Given the description of an element on the screen output the (x, y) to click on. 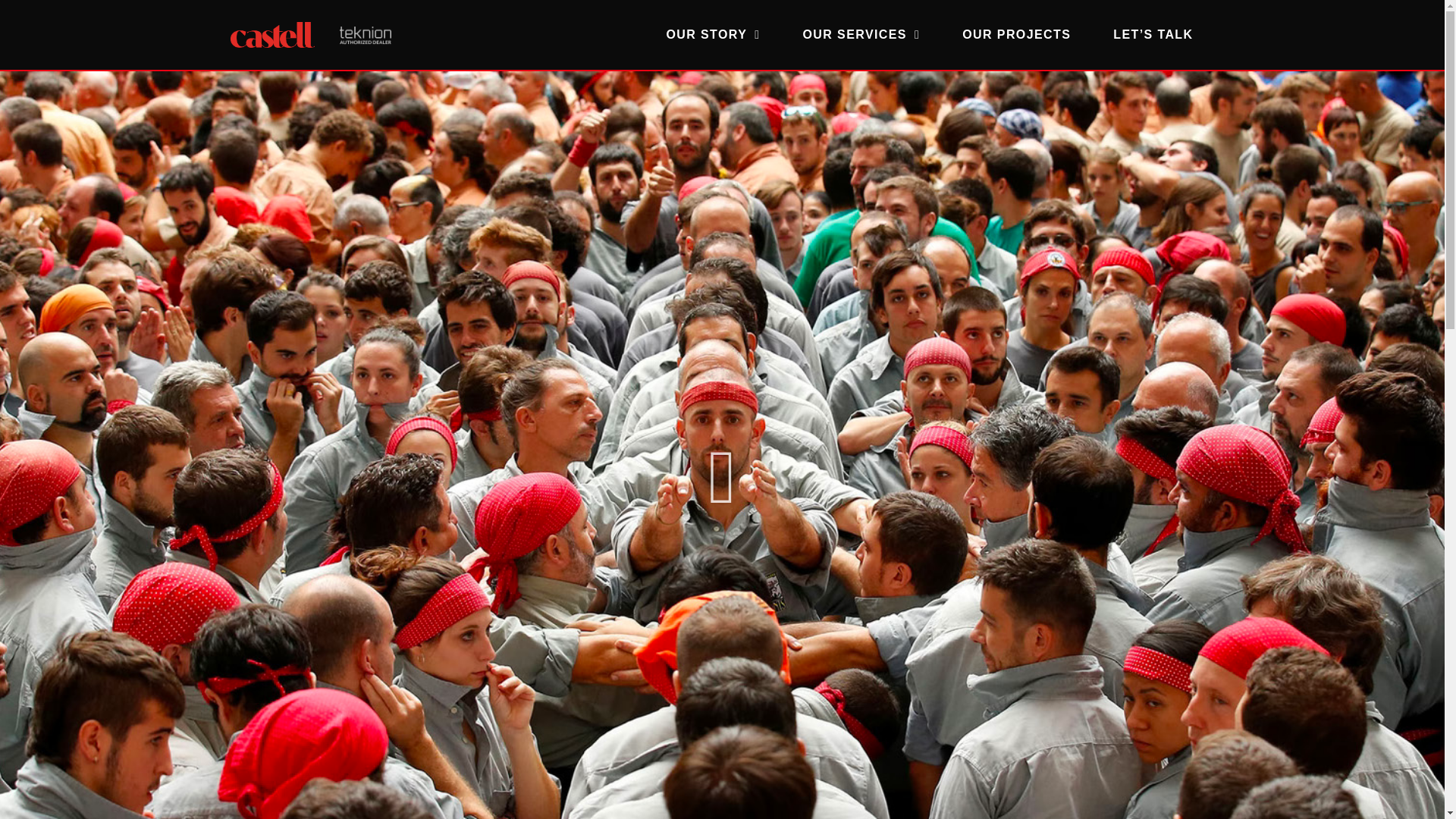
OUR STORY (712, 34)
OUR PROJECTS (1016, 34)
OUR SERVICES (861, 34)
